Given the description of an element on the screen output the (x, y) to click on. 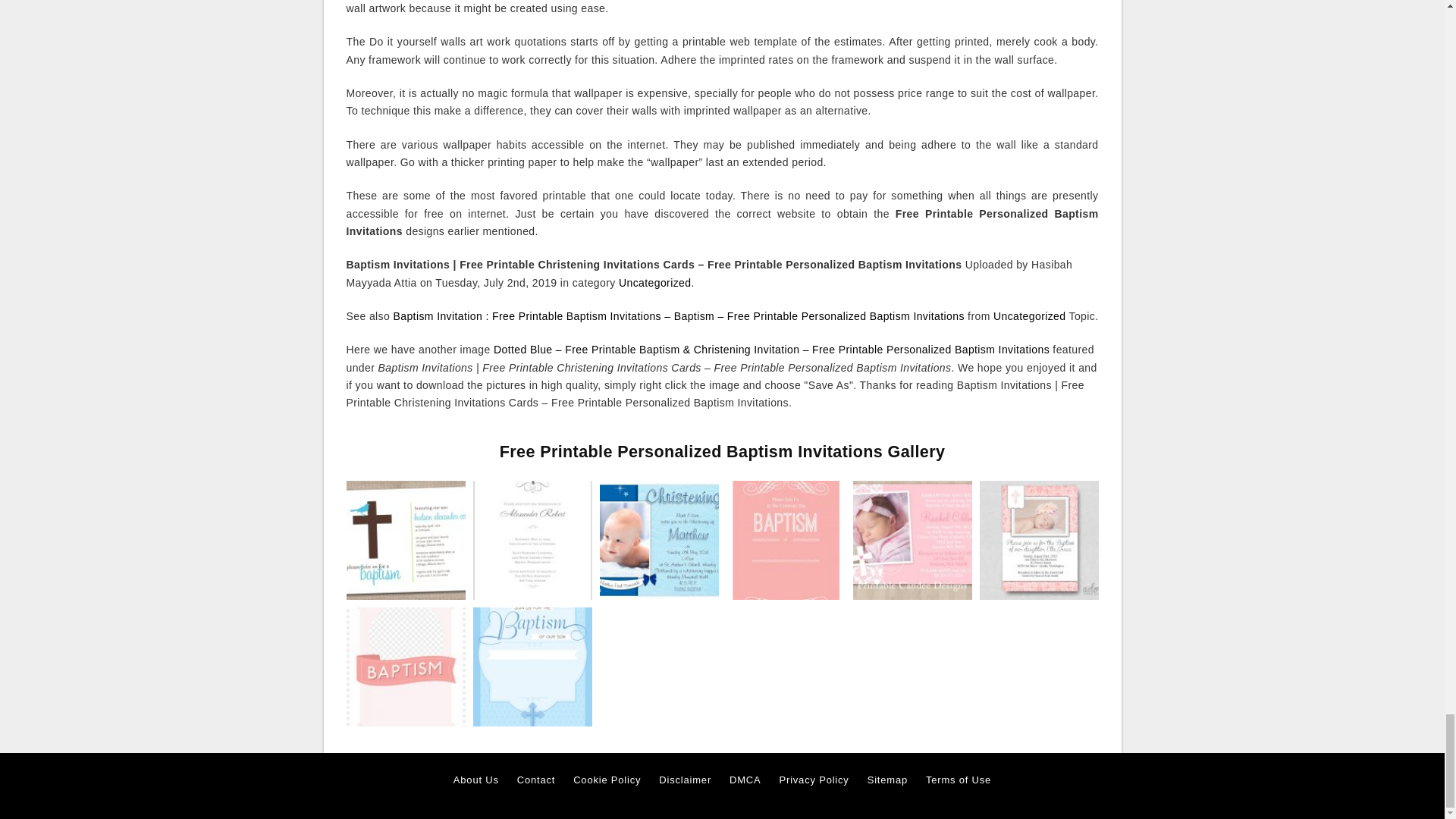
Uncategorized (654, 282)
Cookie Policy (606, 780)
About Us (475, 780)
Privacy Policy (813, 780)
Sitemap (887, 780)
DMCA (744, 780)
Uncategorized (1028, 316)
Contact (535, 780)
Disclaimer (685, 780)
